Given the description of an element on the screen output the (x, y) to click on. 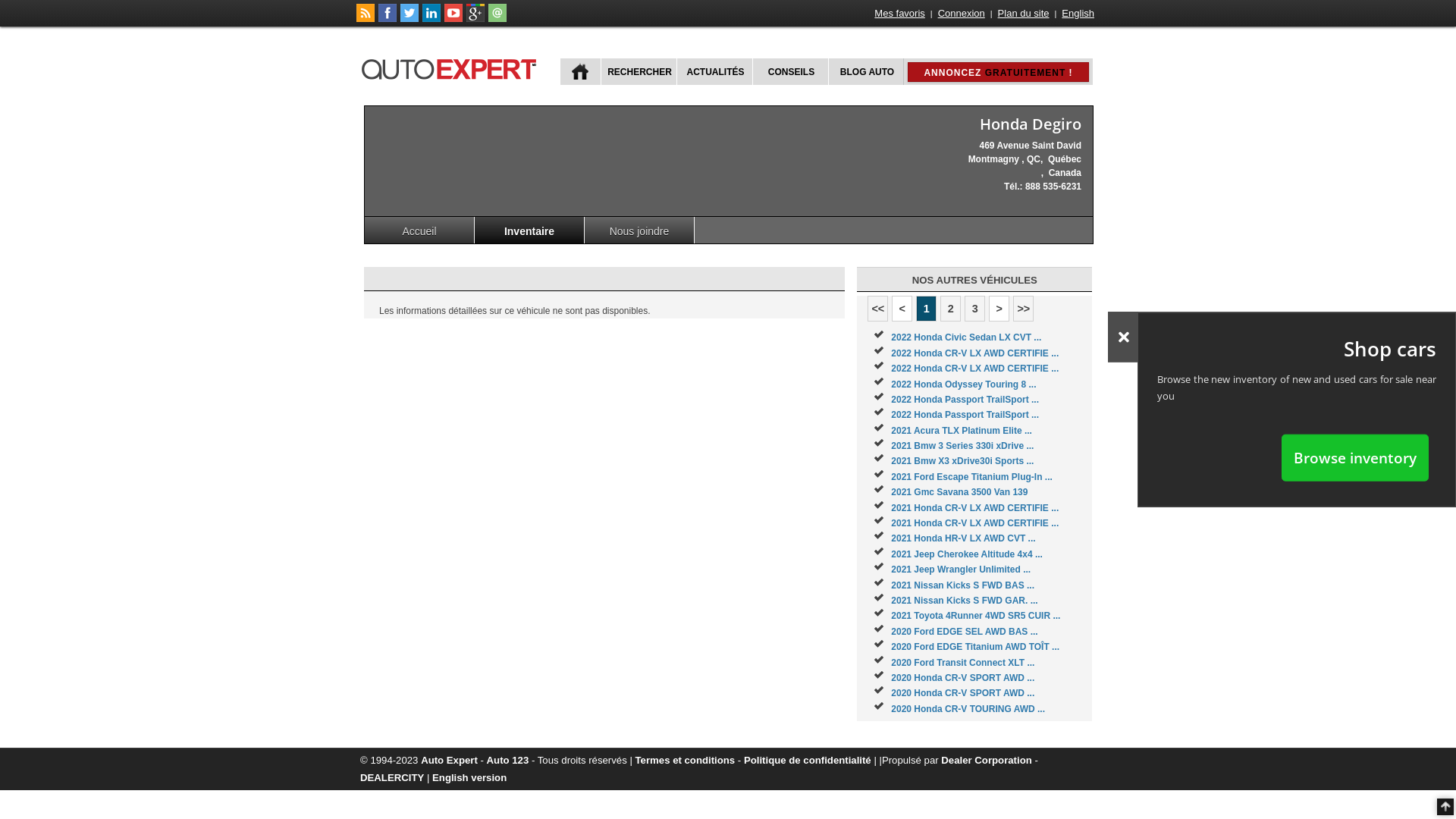
2021 Ford Escape Titanium Plug-In ... Element type: text (971, 476)
2021 Toyota 4Runner 4WD SR5 CUIR ... Element type: text (975, 615)
ACCUEIL Element type: text (580, 71)
Auto 123 Element type: text (507, 759)
English version Element type: text (469, 777)
Nous joindre Element type: text (639, 229)
Auto Expert Element type: text (448, 759)
Suivez autoExpert.ca sur Facebook Element type: hover (387, 18)
Accueil Element type: text (419, 229)
Inventaire Element type: text (529, 229)
2020 Ford Transit Connect XLT ... Element type: text (962, 662)
1 Element type: text (926, 308)
2022 Honda CR-V LX AWD CERTIFIE ... Element type: text (974, 353)
2022 Honda Odyssey Touring 8 ... Element type: text (963, 384)
2021 Bmw X3 xDrive30i Sports ... Element type: text (962, 460)
ANNONCEZ GRATUITEMENT ! Element type: text (997, 71)
autoExpert.ca Element type: text (451, 66)
Suivez autoExpert.ca sur Twitter Element type: hover (409, 18)
2022 Honda Passport TrailSport ... Element type: text (964, 414)
2020 Honda CR-V TOURING AWD ... Element type: text (967, 708)
Plan du site Element type: text (1023, 13)
3 Element type: text (974, 308)
Browse inventory Element type: text (1354, 457)
Suivez autoExpert.ca sur Youtube Element type: hover (453, 18)
Dealer Corporation Element type: text (986, 759)
DEALERCITY Element type: text (391, 777)
Mes favoris Element type: text (898, 13)
2022 Honda CR-V LX AWD CERTIFIE ... Element type: text (974, 368)
2022 Honda Passport TrailSport ... Element type: text (964, 399)
Suivez autoExpert.ca sur Google Plus Element type: hover (475, 18)
Termes et conditions Element type: text (685, 759)
BLOG AUTO Element type: text (865, 71)
> Element type: text (998, 308)
2021 Bmw 3 Series 330i xDrive ... Element type: text (962, 445)
Suivez Publications Le Guide Inc. sur LinkedIn Element type: hover (431, 18)
2021 Jeep Cherokee Altitude 4x4 ... Element type: text (966, 554)
CONSEILS Element type: text (789, 71)
2020 Ford EDGE SEL AWD BAS ... Element type: text (964, 631)
2021 Honda CR-V LX AWD CERTIFIE ... Element type: text (974, 507)
<< Element type: text (877, 308)
>> Element type: text (1023, 308)
RECHERCHER Element type: text (637, 71)
2021 Jeep Wrangler Unlimited ... Element type: text (960, 569)
2020 Honda CR-V SPORT AWD ... Element type: text (962, 677)
2021 Acura TLX Platinum Elite ... Element type: text (961, 430)
2021 Gmc Savana 3500 Van 139 Element type: text (959, 491)
Joindre autoExpert.ca Element type: hover (497, 18)
2021 Nissan Kicks S FWD BAS ... Element type: text (962, 585)
2021 Honda HR-V LX AWD CVT ... Element type: text (963, 538)
2021 Nissan Kicks S FWD GAR. ... Element type: text (964, 600)
2021 Honda CR-V LX AWD CERTIFIE ... Element type: text (974, 522)
Connexion Element type: text (961, 13)
English Element type: text (1077, 13)
2 Element type: text (950, 308)
< Element type: text (901, 308)
2020 Honda CR-V SPORT AWD ... Element type: text (962, 692)
2022 Honda Civic Sedan LX CVT ... Element type: text (966, 337)
